Given the description of an element on the screen output the (x, y) to click on. 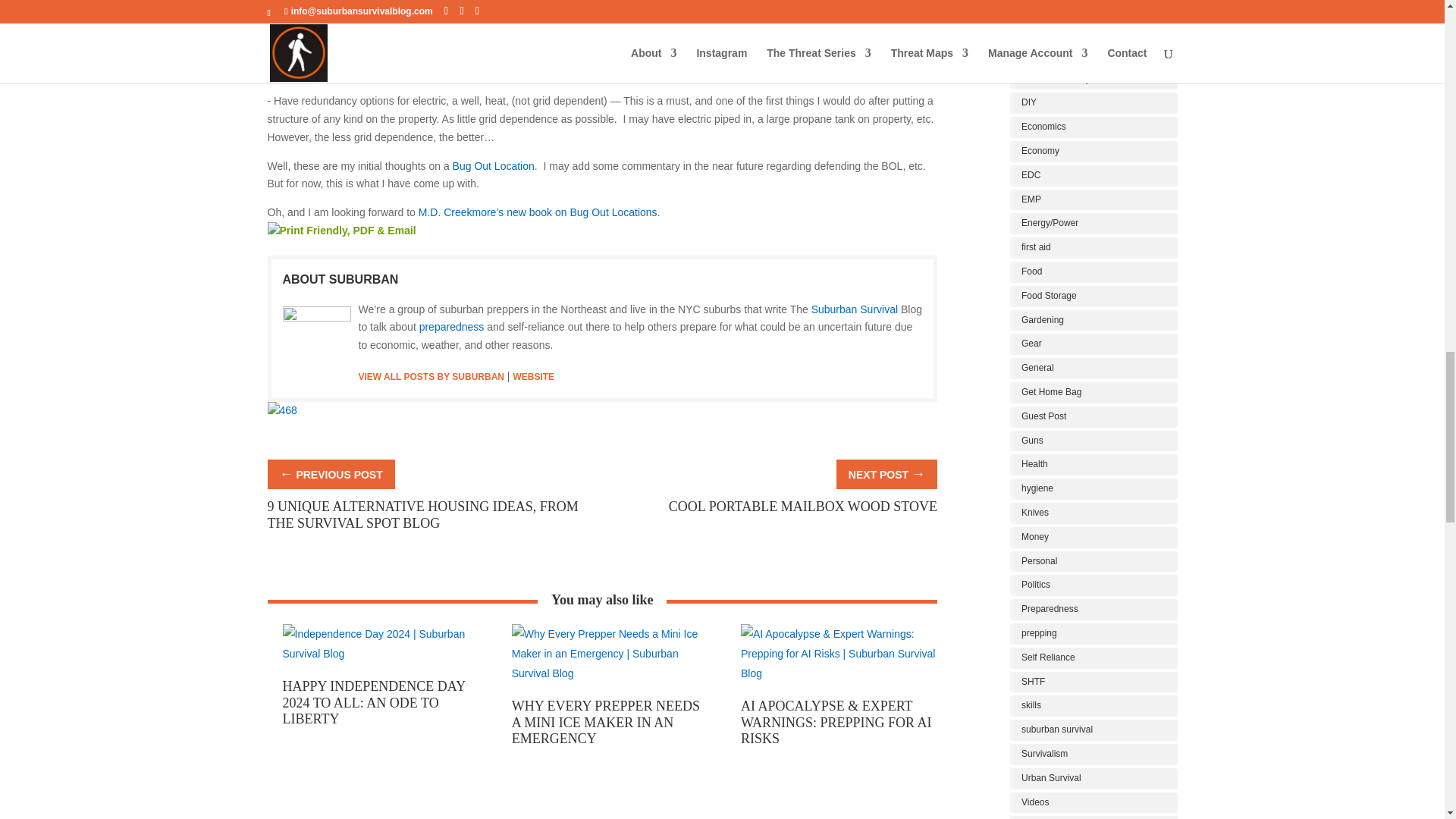
Why Every Prepper Needs a Mini Ice Maker in an Emergency (606, 722)
Happy Independence Day 2024 to All: An Ode to Liberty (373, 702)
Why Every Prepper Needs a Mini Ice Maker in an Emergency (609, 688)
Happy Independence Day 2024 to All: An Ode to Liberty (380, 668)
